Given the description of an element on the screen output the (x, y) to click on. 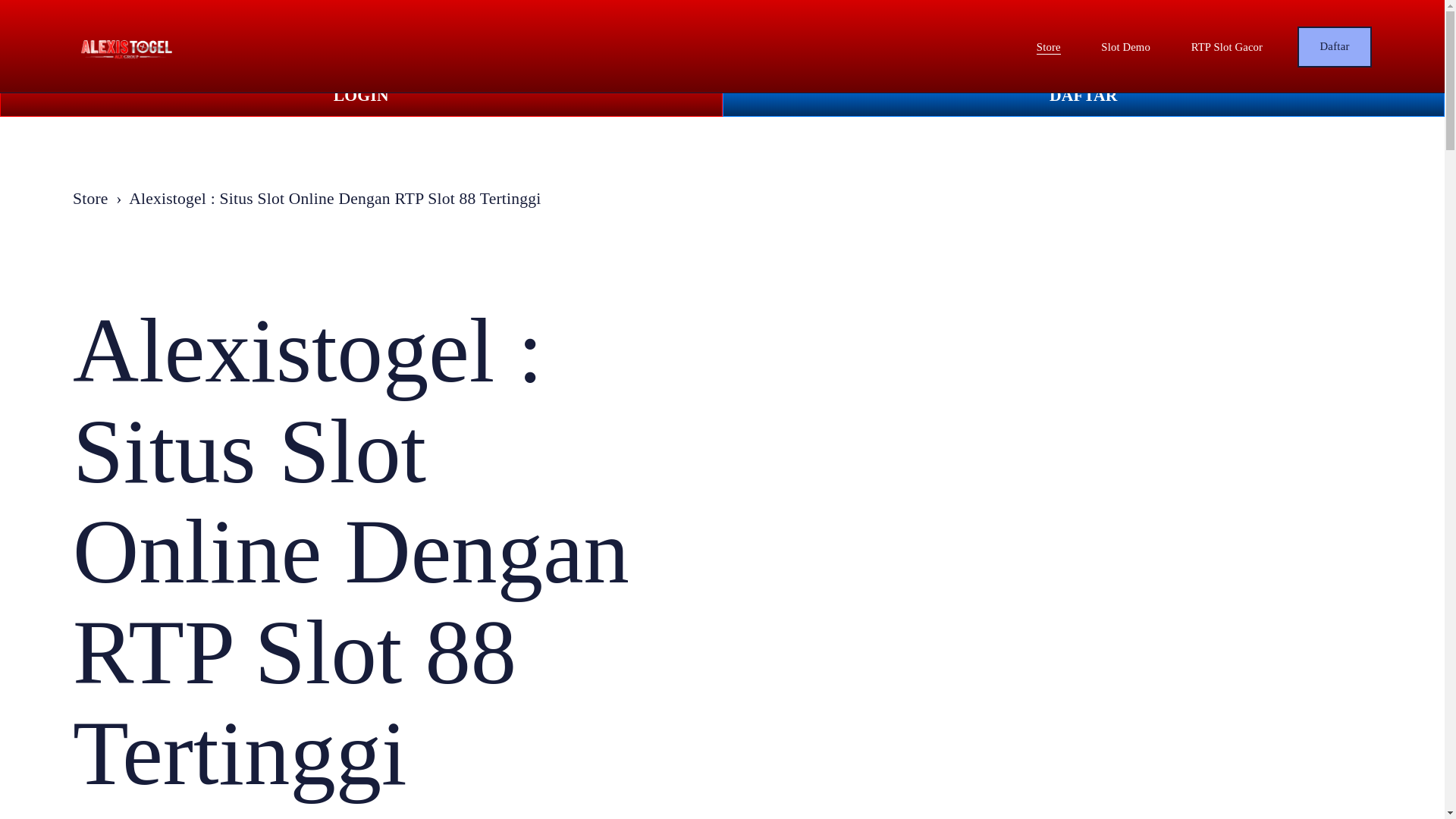
RTP Slot Gacor (1226, 48)
Store (1048, 48)
Alexistogel : Situs Slot Online Dengan RTP Slot 88 Tertinggi (334, 198)
Store (89, 198)
LOGIN (361, 96)
Slot Demo (1125, 48)
Daftar (1334, 46)
